Given the description of an element on the screen output the (x, y) to click on. 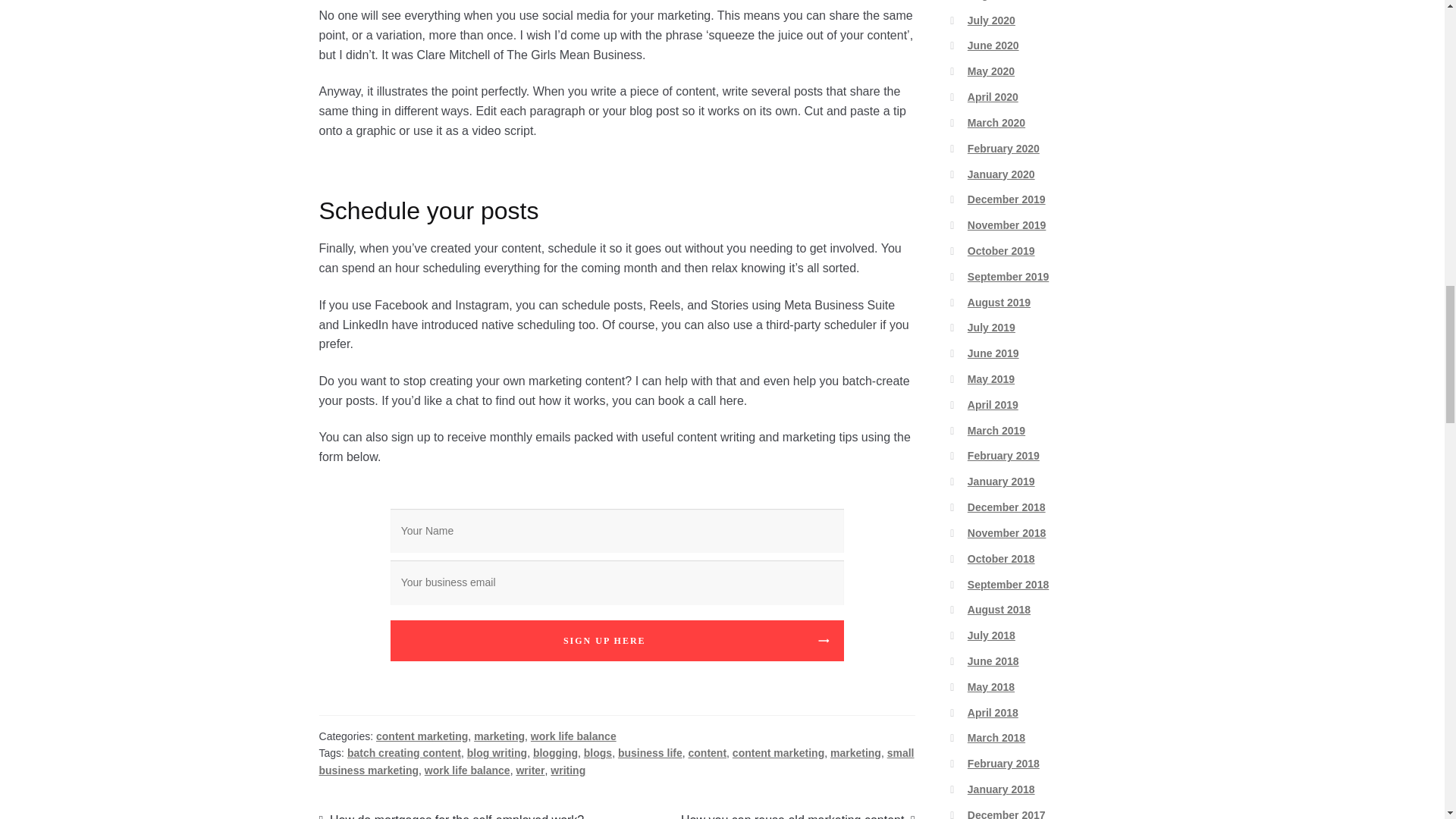
SIGN UP HERE (617, 639)
content marketing (421, 736)
marketing (499, 736)
